Given the description of an element on the screen output the (x, y) to click on. 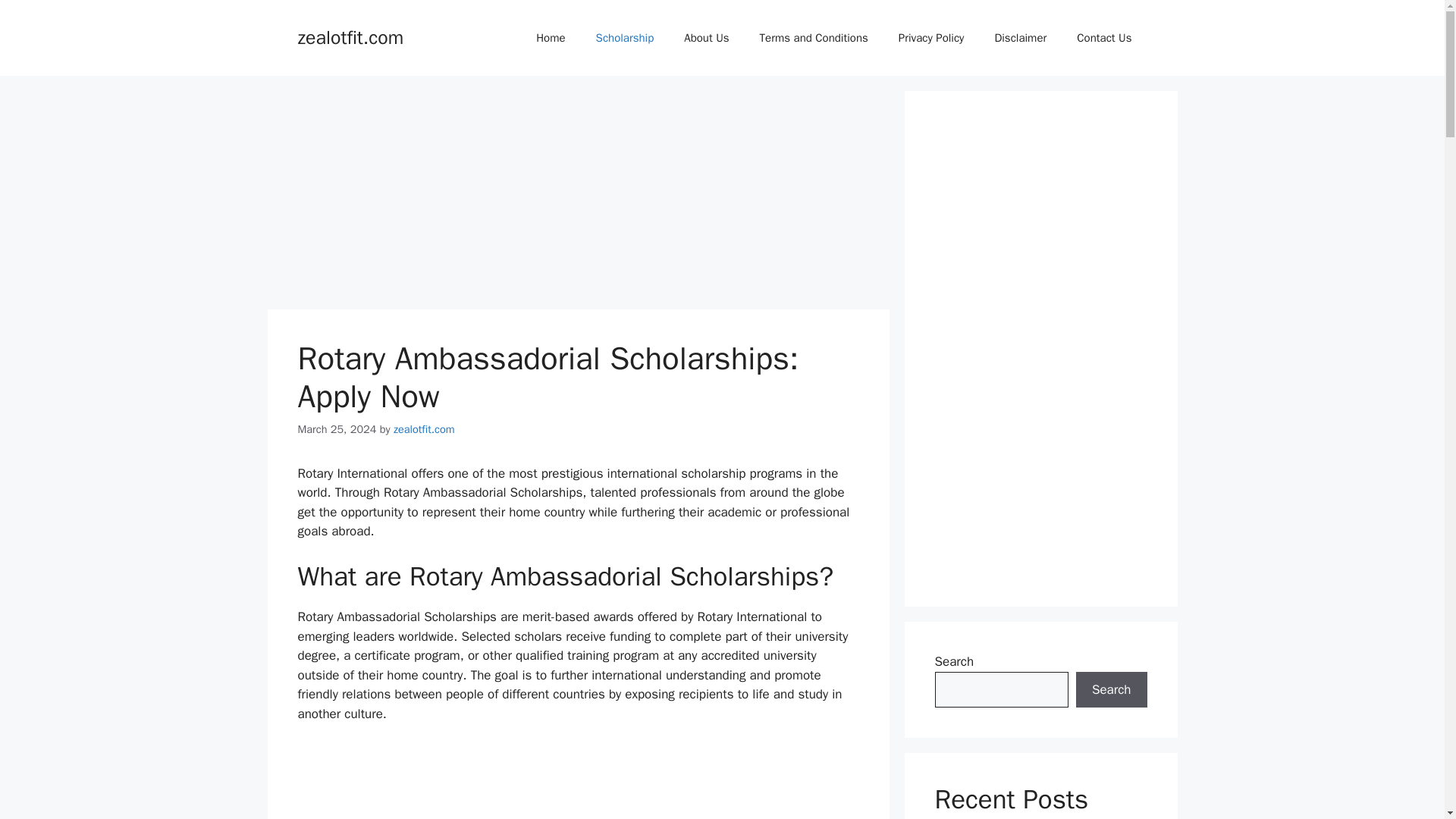
Search (1111, 689)
Disclaimer (1019, 37)
Advertisement (578, 780)
Advertisement (577, 196)
Privacy Policy (931, 37)
zealotfit.com (423, 428)
Scholarship (624, 37)
View all posts by zealotfit.com (423, 428)
Terms and Conditions (813, 37)
Home (550, 37)
About Us (706, 37)
Advertisement (1040, 348)
Contact Us (1104, 37)
zealotfit.com (350, 37)
